Given the description of an element on the screen output the (x, y) to click on. 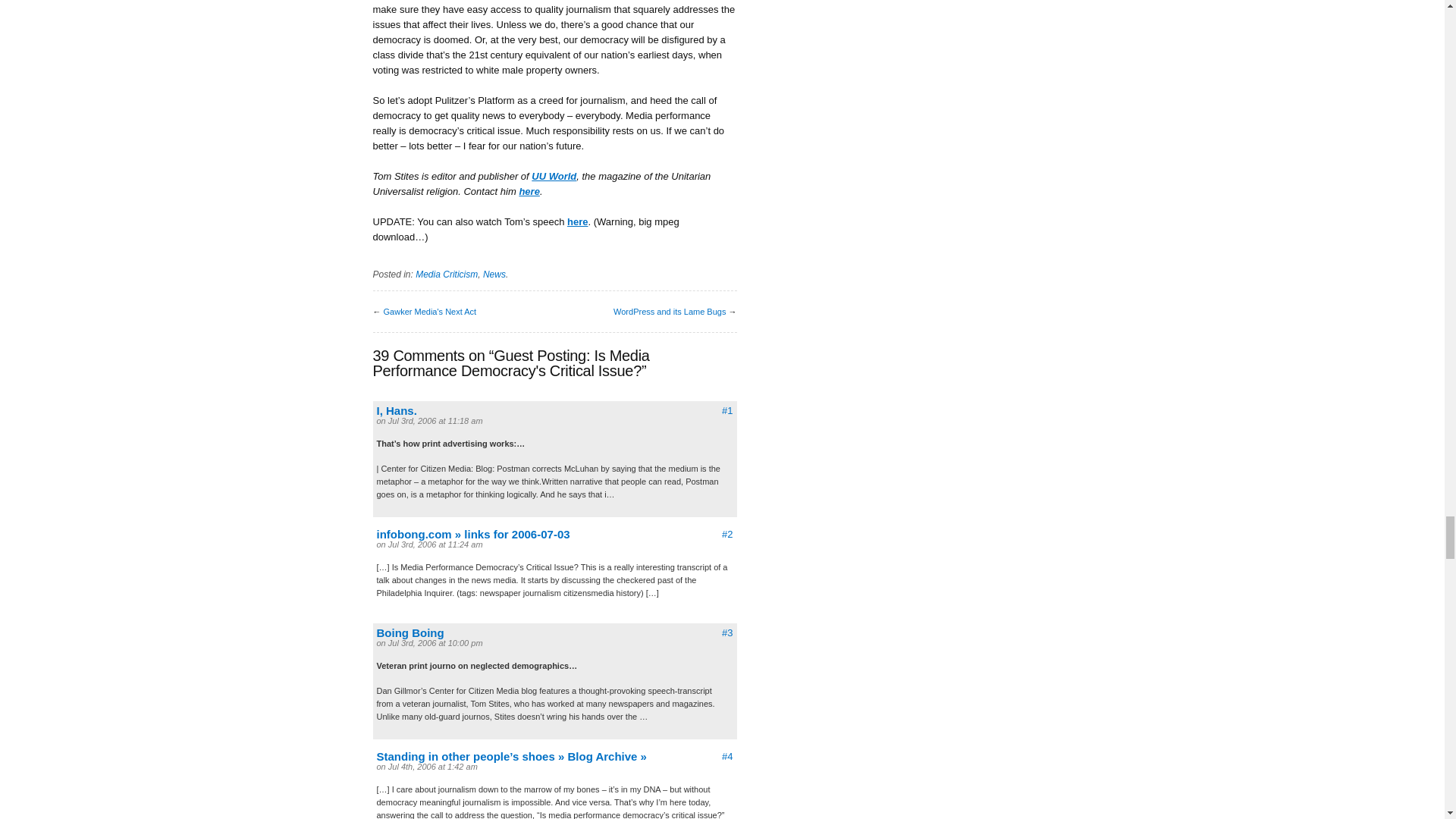
Boing Boing (409, 632)
UU World (553, 175)
News (494, 274)
Gawker Media's Next Act (430, 311)
Permalink to this comment (727, 533)
WordPress and its Lame Bugs (668, 311)
here (528, 191)
I, Hans. (395, 410)
Permalink to this comment (727, 410)
here (577, 221)
Media Criticism (445, 274)
